Given the description of an element on the screen output the (x, y) to click on. 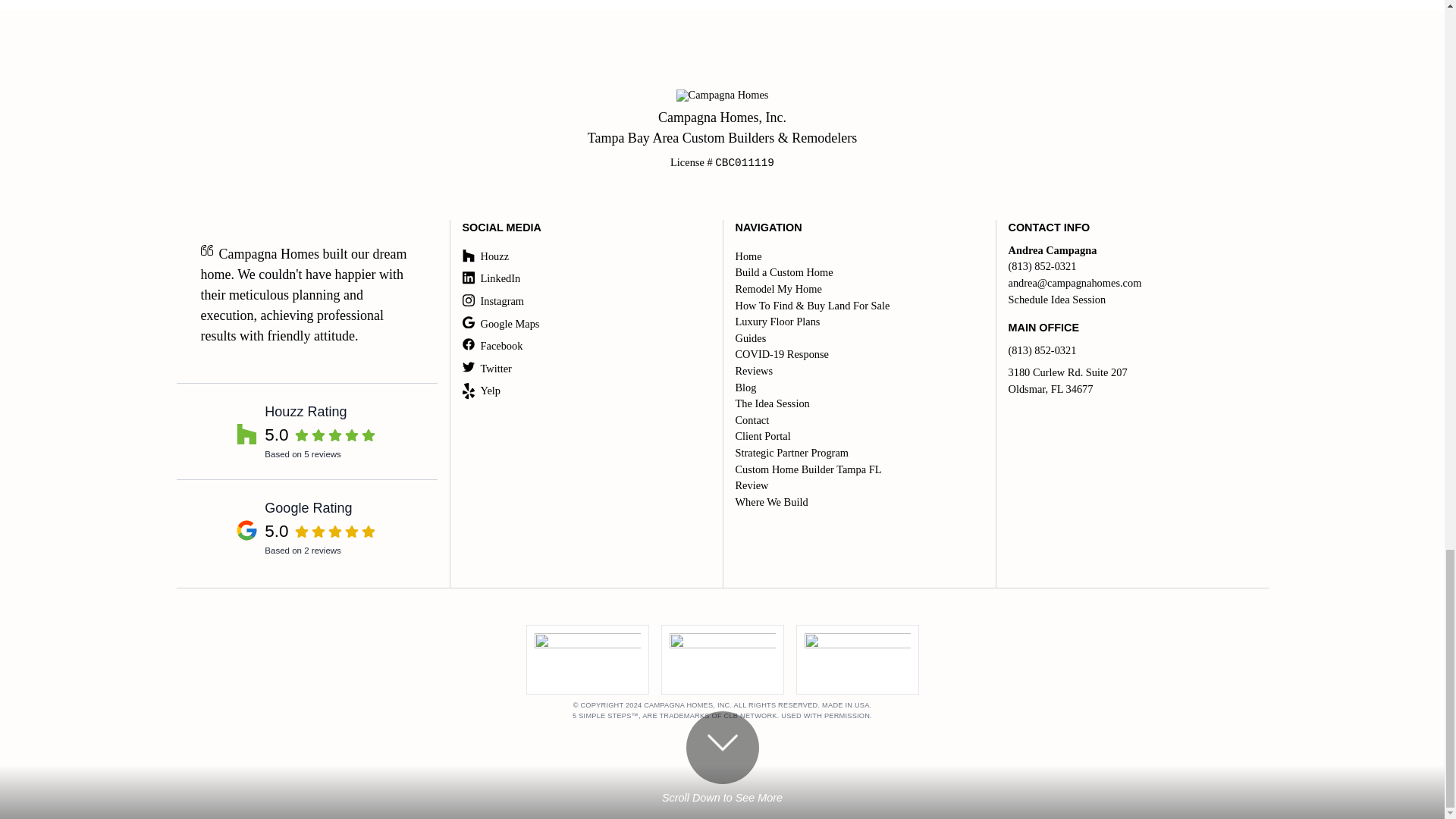
Twitter (583, 369)
Home (855, 256)
Houzz (583, 256)
Facebook (306, 431)
Yelp (583, 346)
Campagna Homes in Tampa Bay Area (583, 391)
Google Maps (722, 127)
LinkedIn (583, 324)
